Given the description of an element on the screen output the (x, y) to click on. 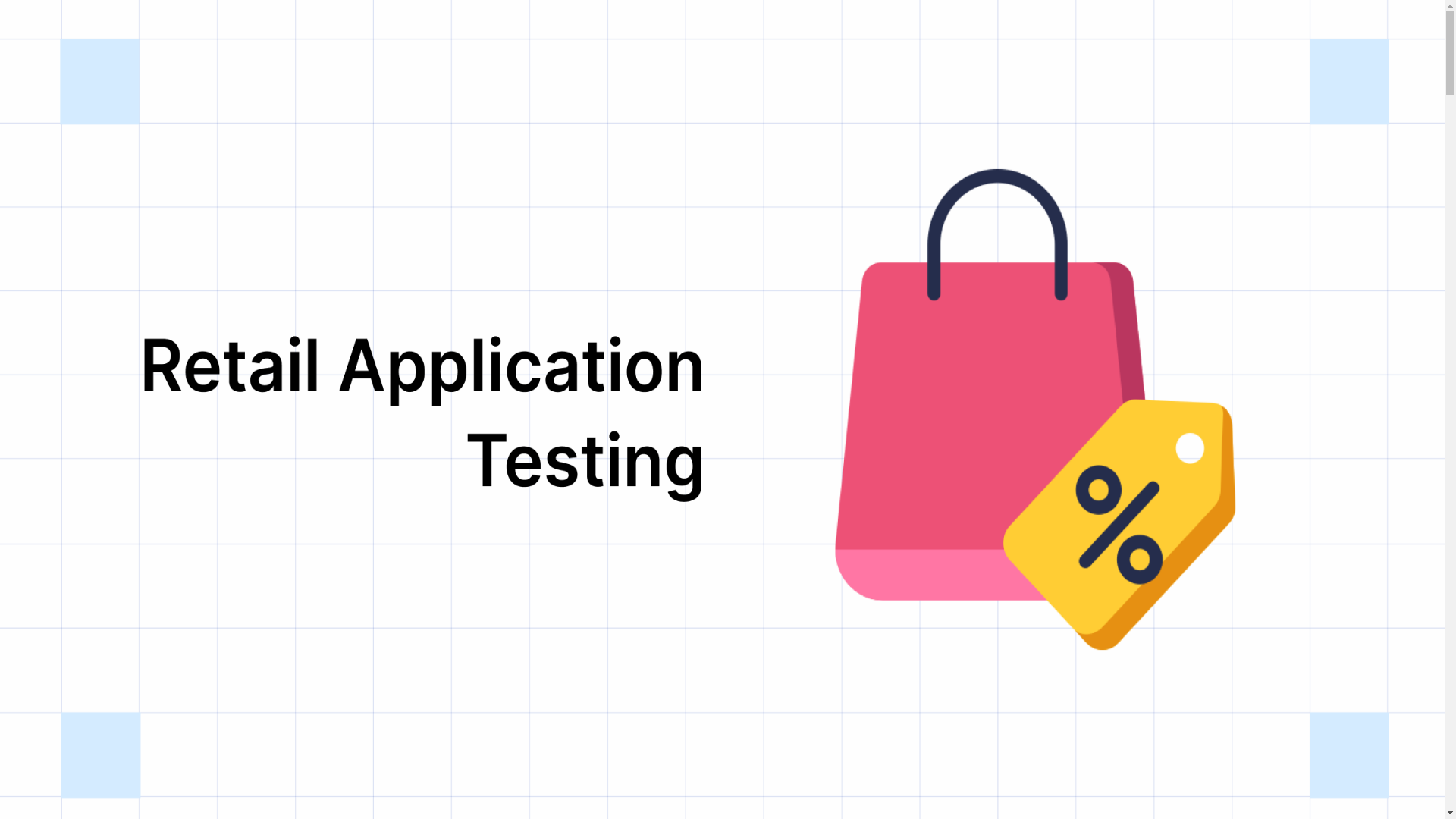
AUTOMATION TESTING (72, 80)
4.6 Tax Calculation Accuracy (138, 558)
4.7 User Authentication and Authorization (169, 571)
4.1 Verify the correct working of Critical User Flows (195, 490)
4.2 Check Inventory Management (149, 503)
3.2 Performance Testing: (127, 435)
4.4 Test Offline Mode (119, 530)
11.2 Why is Retail Application Testing important? (188, 735)
4.5 Customer Loyalty Program Integration (169, 544)
4 Sample Test Cases for POS Used in Retail (143, 476)
4.3 Cross-Platform Compatibility (148, 517)
8.1 Test Plans (99, 653)
3.4 Usability Testing: (118, 462)
11.5 What are the steps involved in retail software testing? (208, 776)
